Given the description of an element on the screen output the (x, y) to click on. 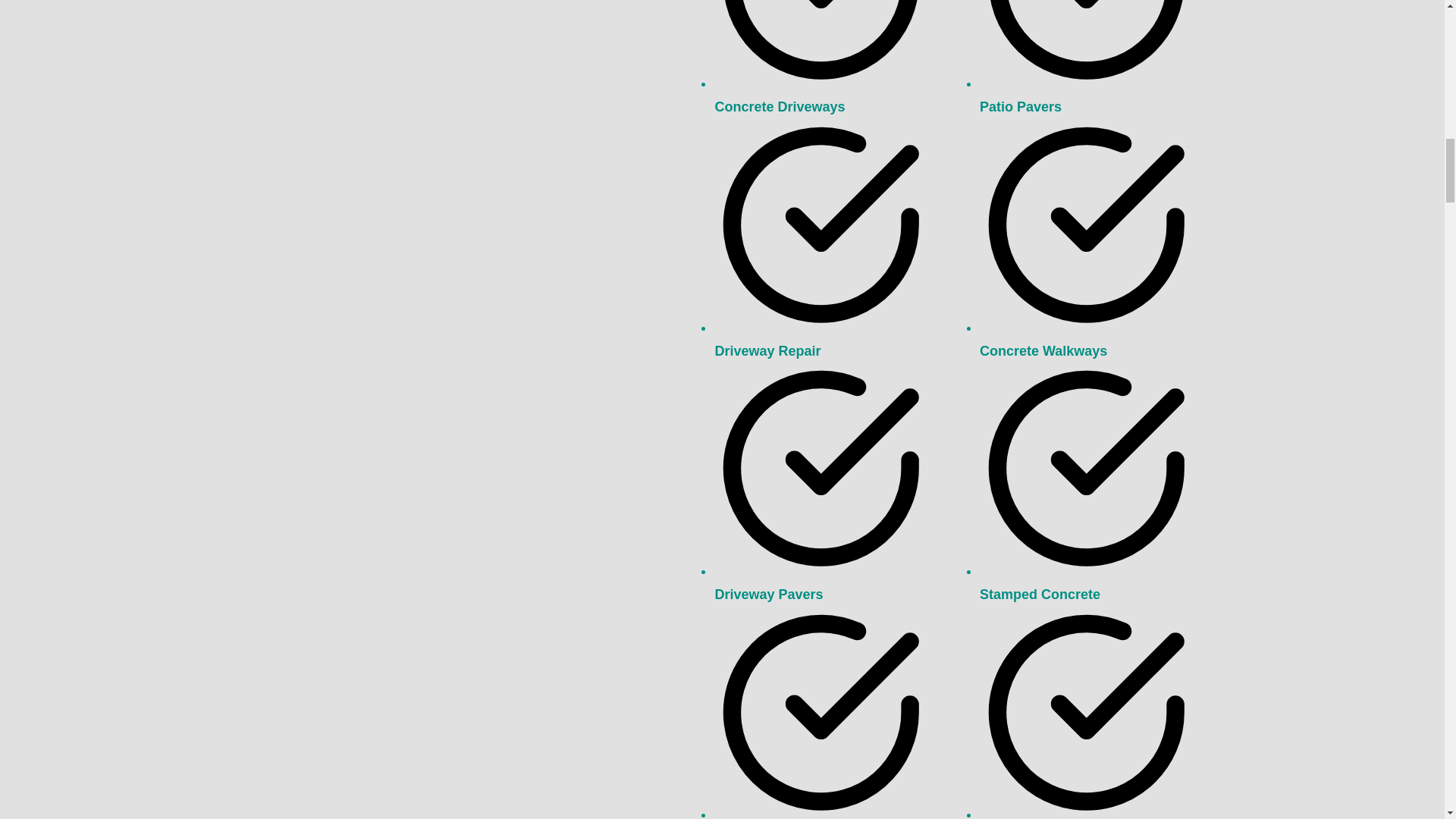
Driveway Repair (767, 350)
Concrete Driveways (779, 106)
Driveway Pavers (768, 594)
